Given the description of an element on the screen output the (x, y) to click on. 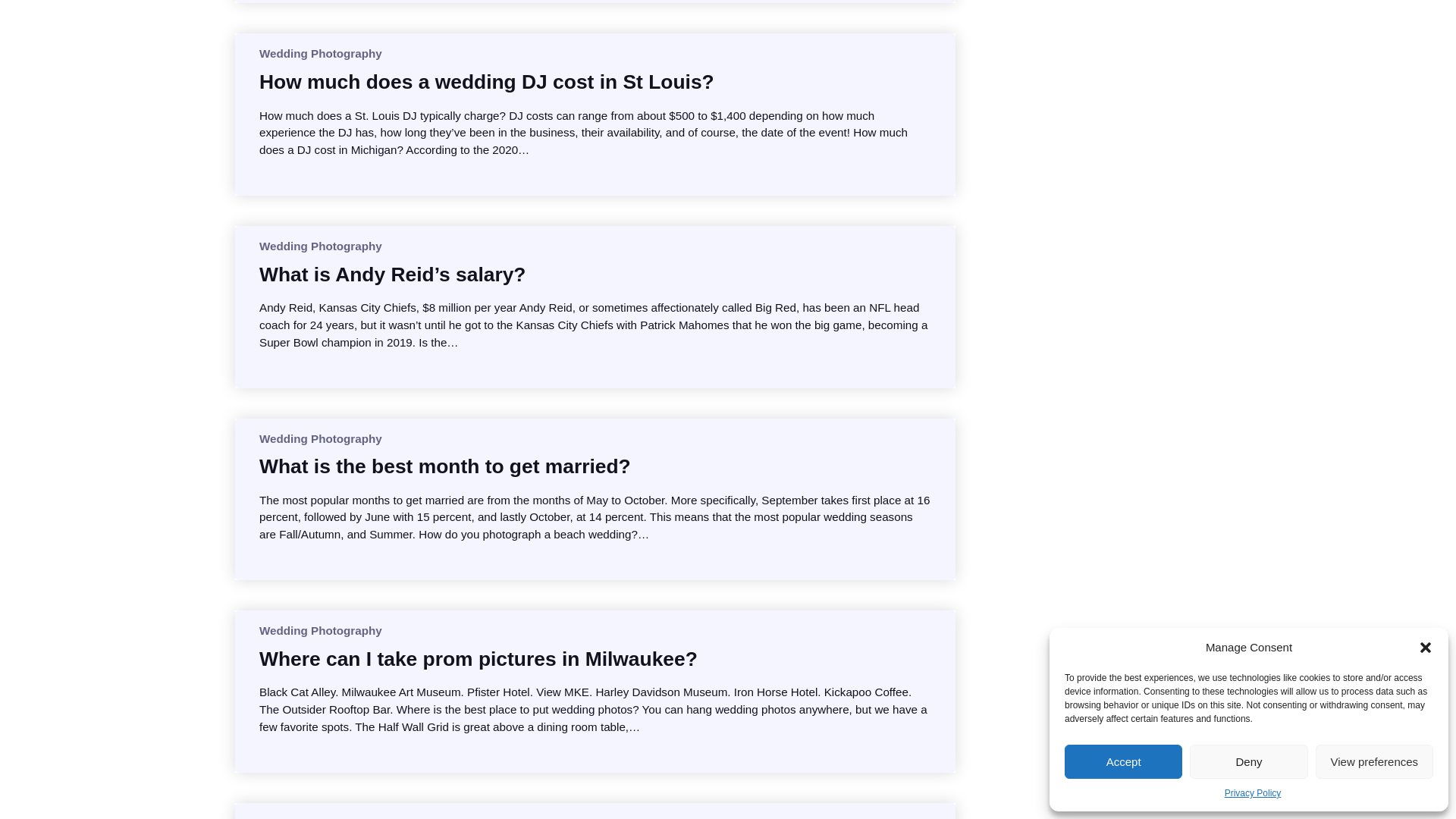
Wedding Photography (320, 438)
Wedding Photography (320, 245)
Wedding Photography (320, 52)
How much does a wedding DJ cost in St Louis? (486, 81)
What is the best month to get married? (444, 466)
Wedding Photography (320, 630)
